Given the description of an element on the screen output the (x, y) to click on. 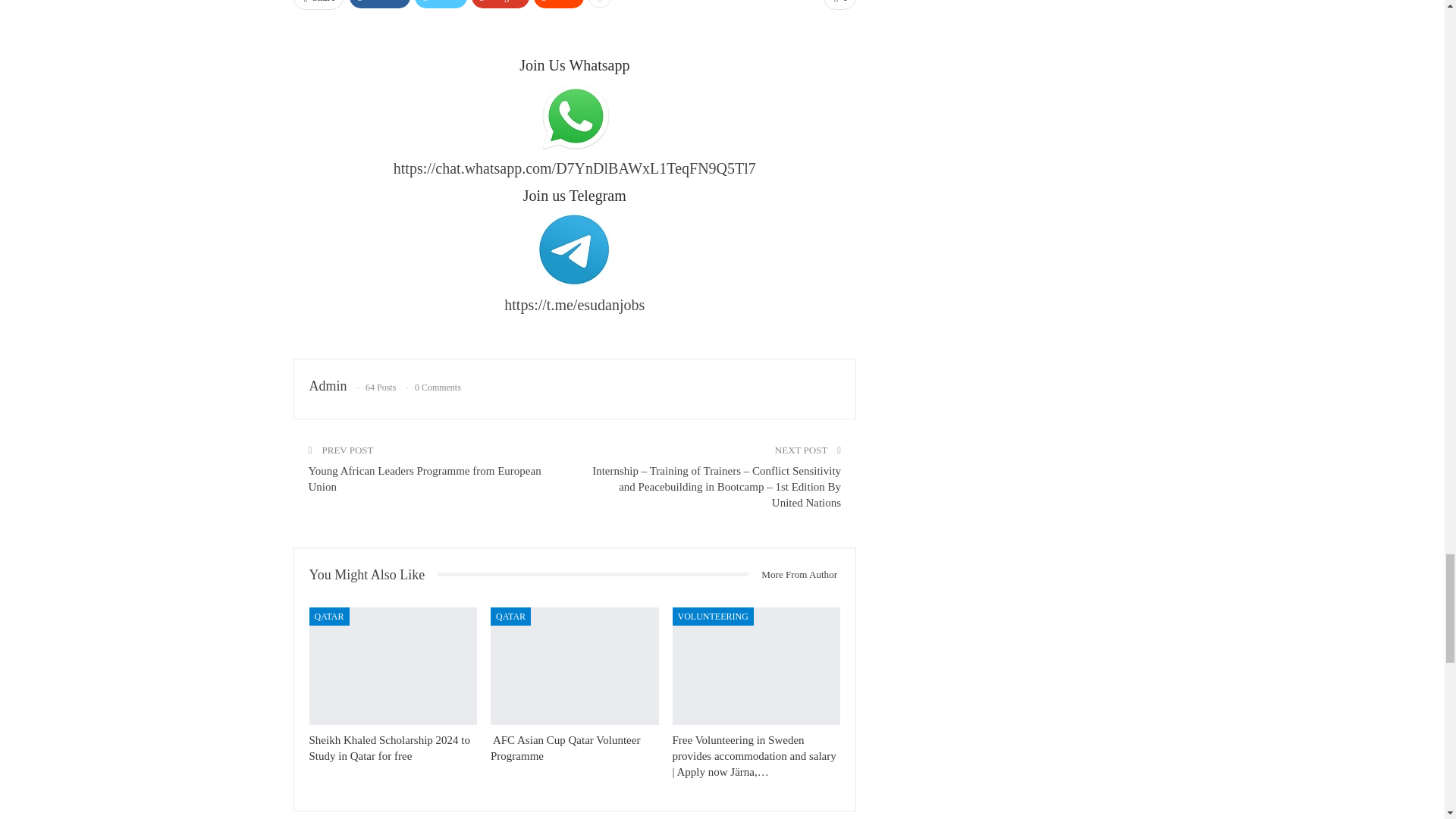
0 (840, 4)
Sheikh Khaled Scholarship 2024 to Study in Qatar for free (392, 665)
ReddIt (559, 4)
Sheikh Khaled Scholarship 2024 to Study in Qatar for free (389, 747)
Facebook (379, 4)
Twitter (439, 4)
